Given the description of an element on the screen output the (x, y) to click on. 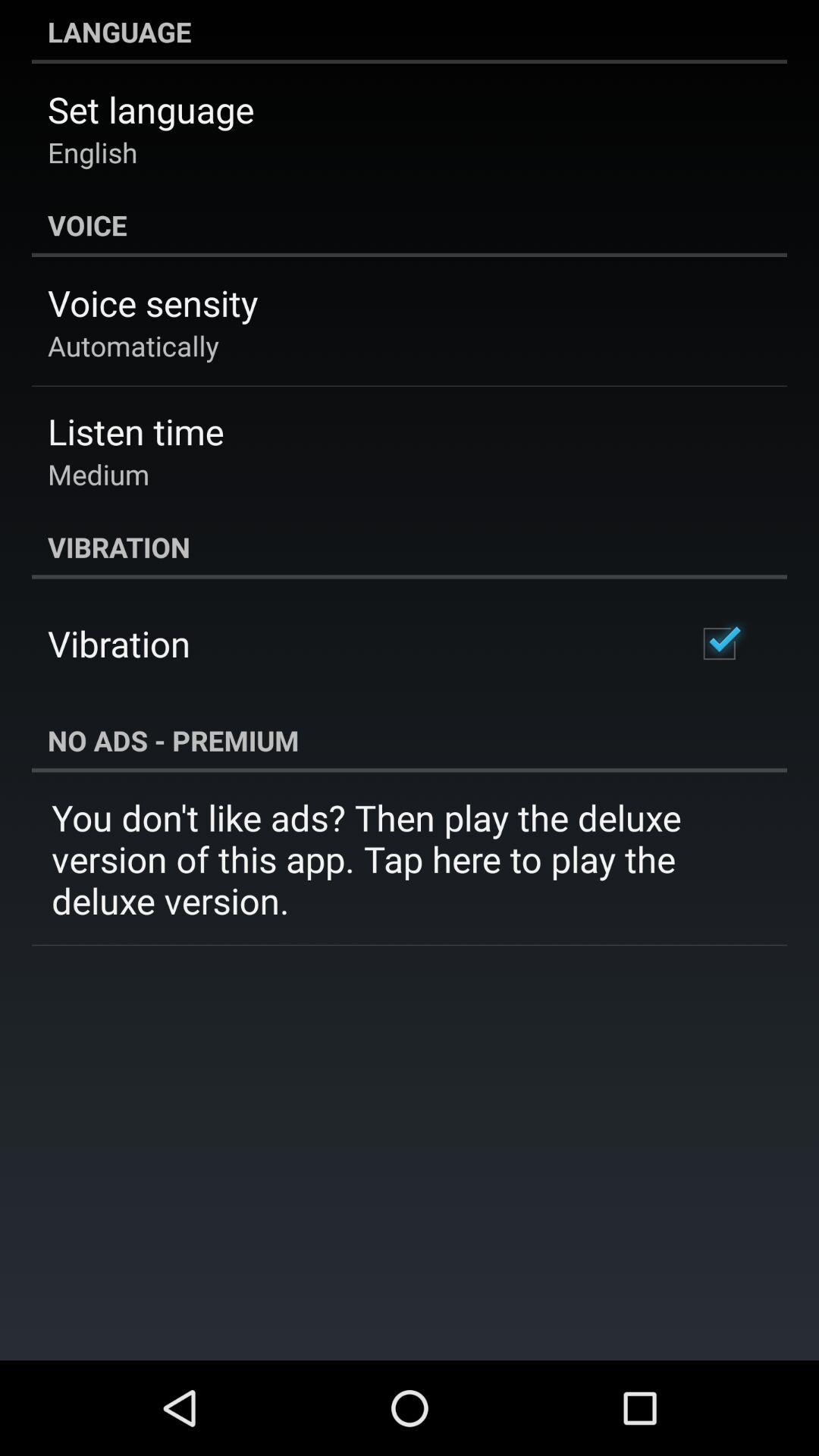
flip to listen time (135, 431)
